Given the description of an element on the screen output the (x, y) to click on. 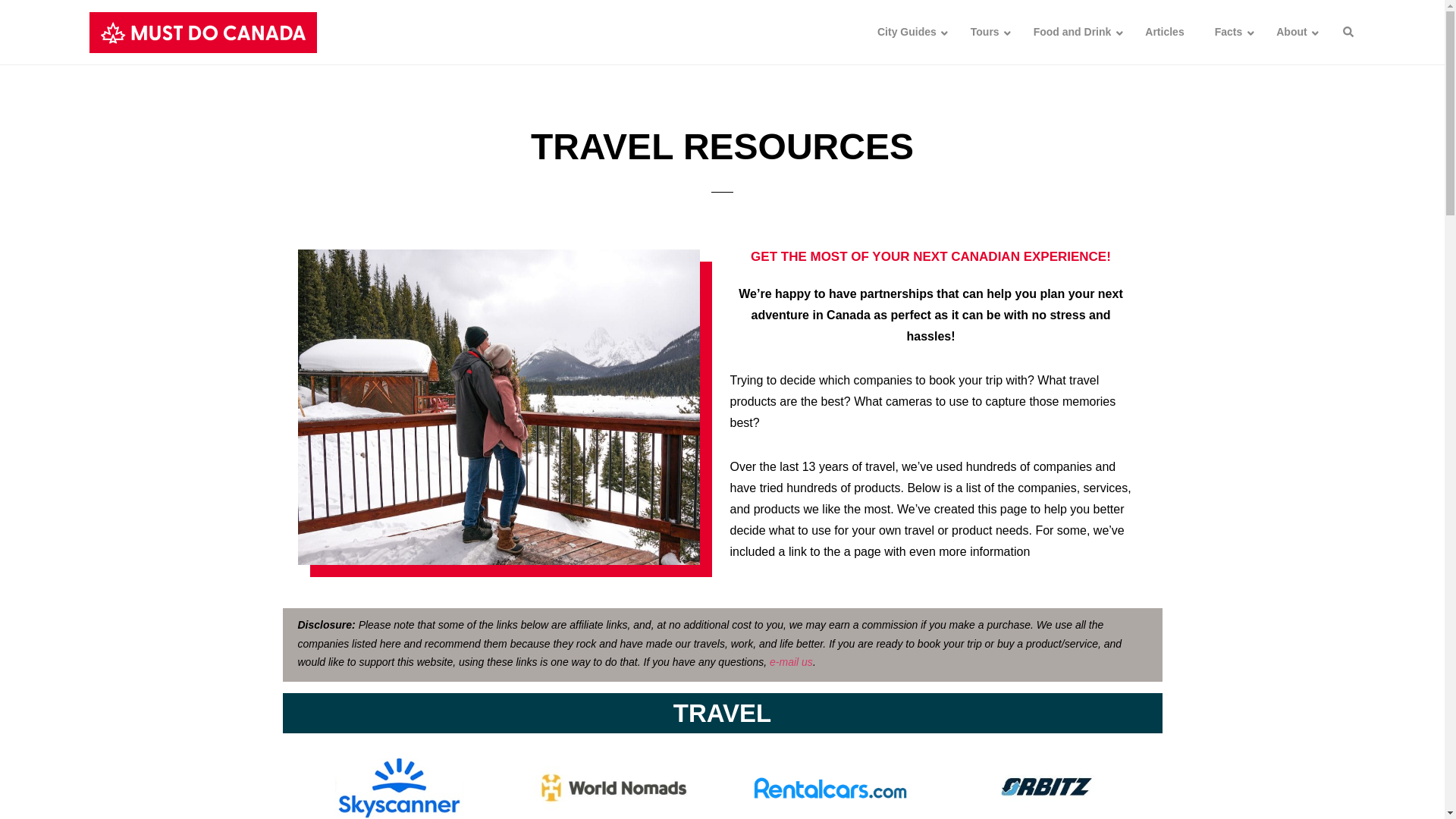
MUST DO CANADA (202, 31)
Articles (1163, 31)
